Given the description of an element on the screen output the (x, y) to click on. 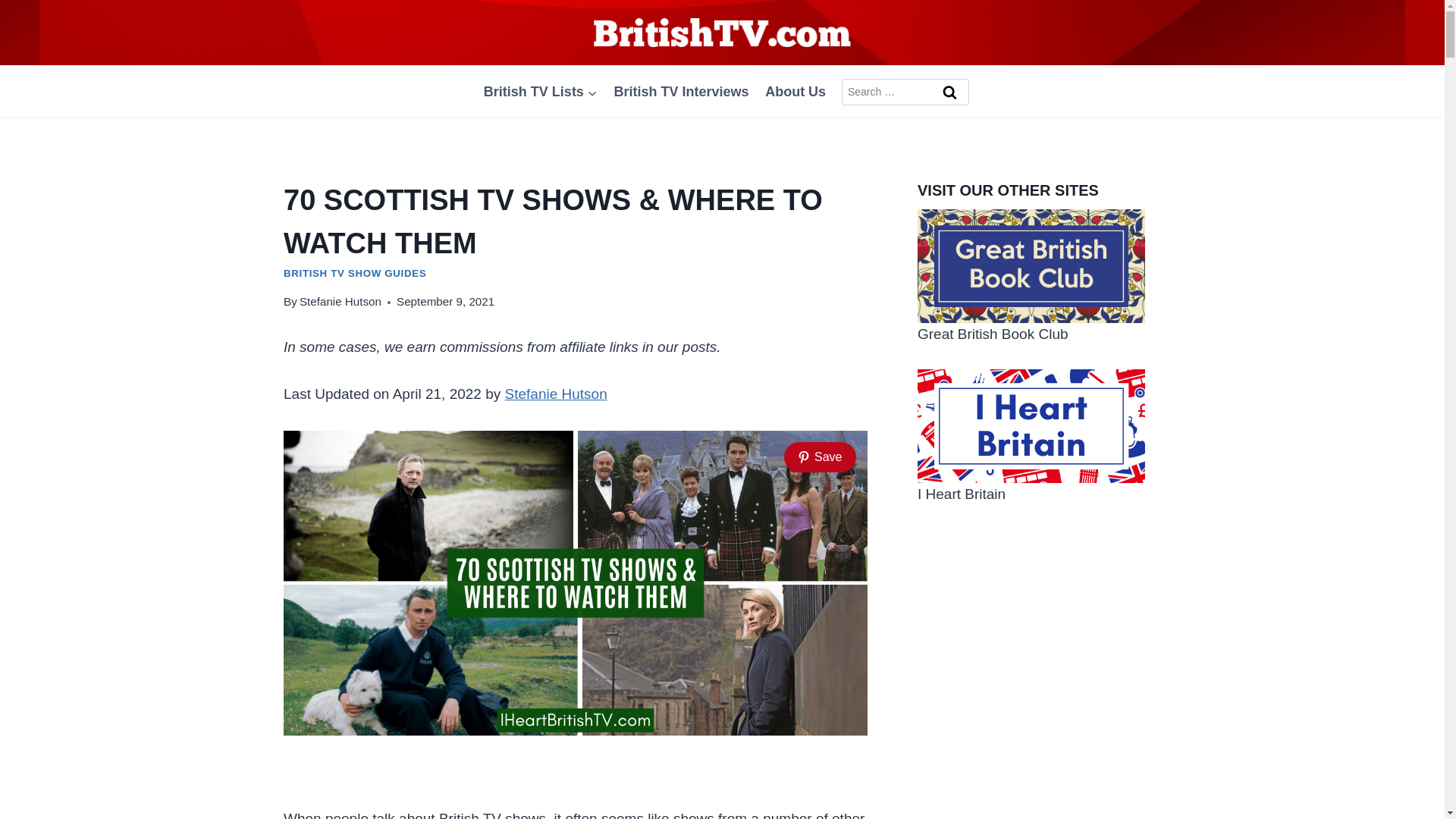
Search (950, 92)
British TV Lists (540, 91)
British TV Interviews (681, 91)
Search (950, 92)
Search (950, 92)
Stefanie Hutson (556, 393)
BRITISH TV SHOW GUIDES (354, 273)
Stefanie Hutson (340, 300)
About Us (795, 91)
